Given the description of an element on the screen output the (x, y) to click on. 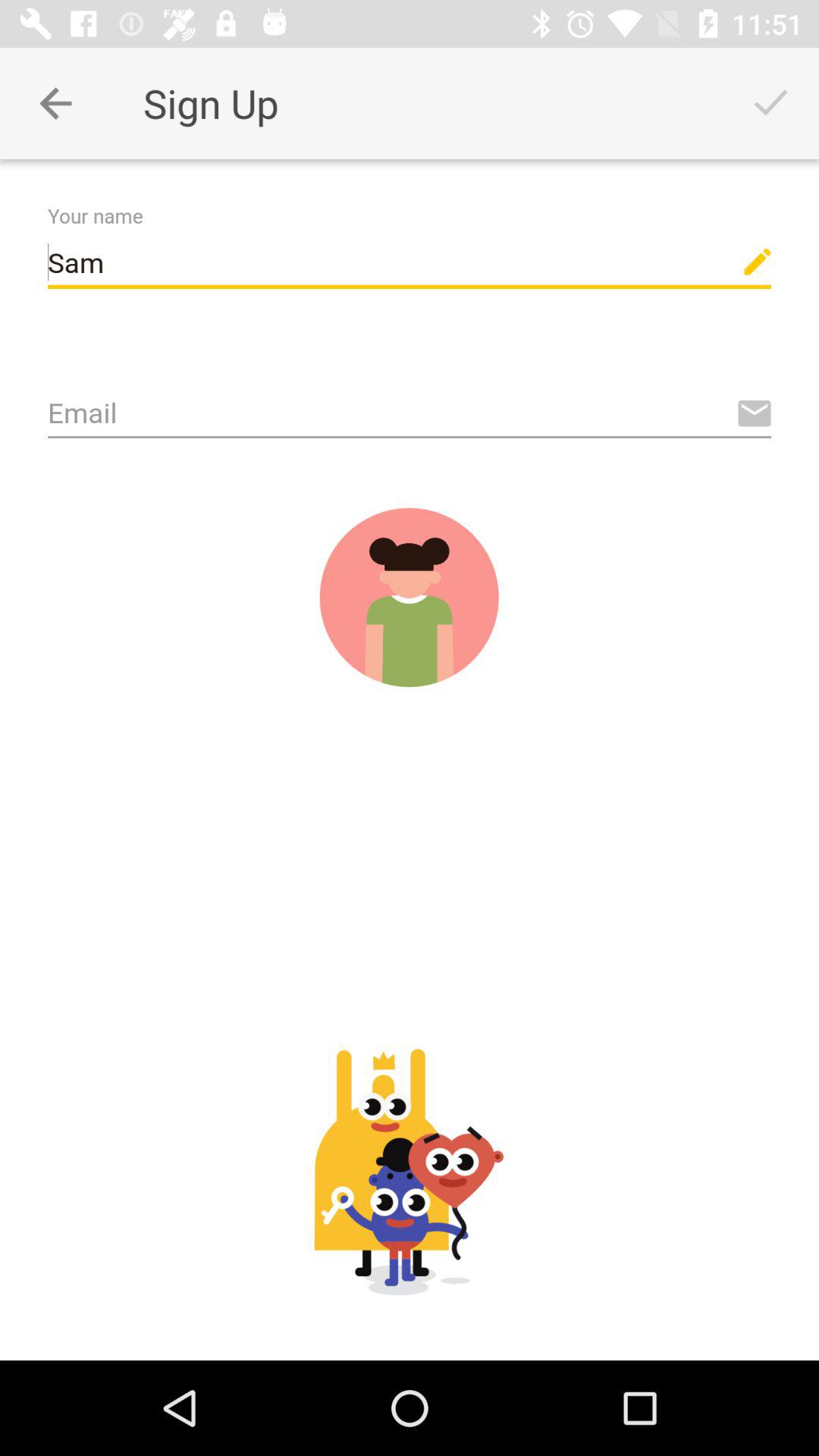
privious page (55, 103)
